Given the description of an element on the screen output the (x, y) to click on. 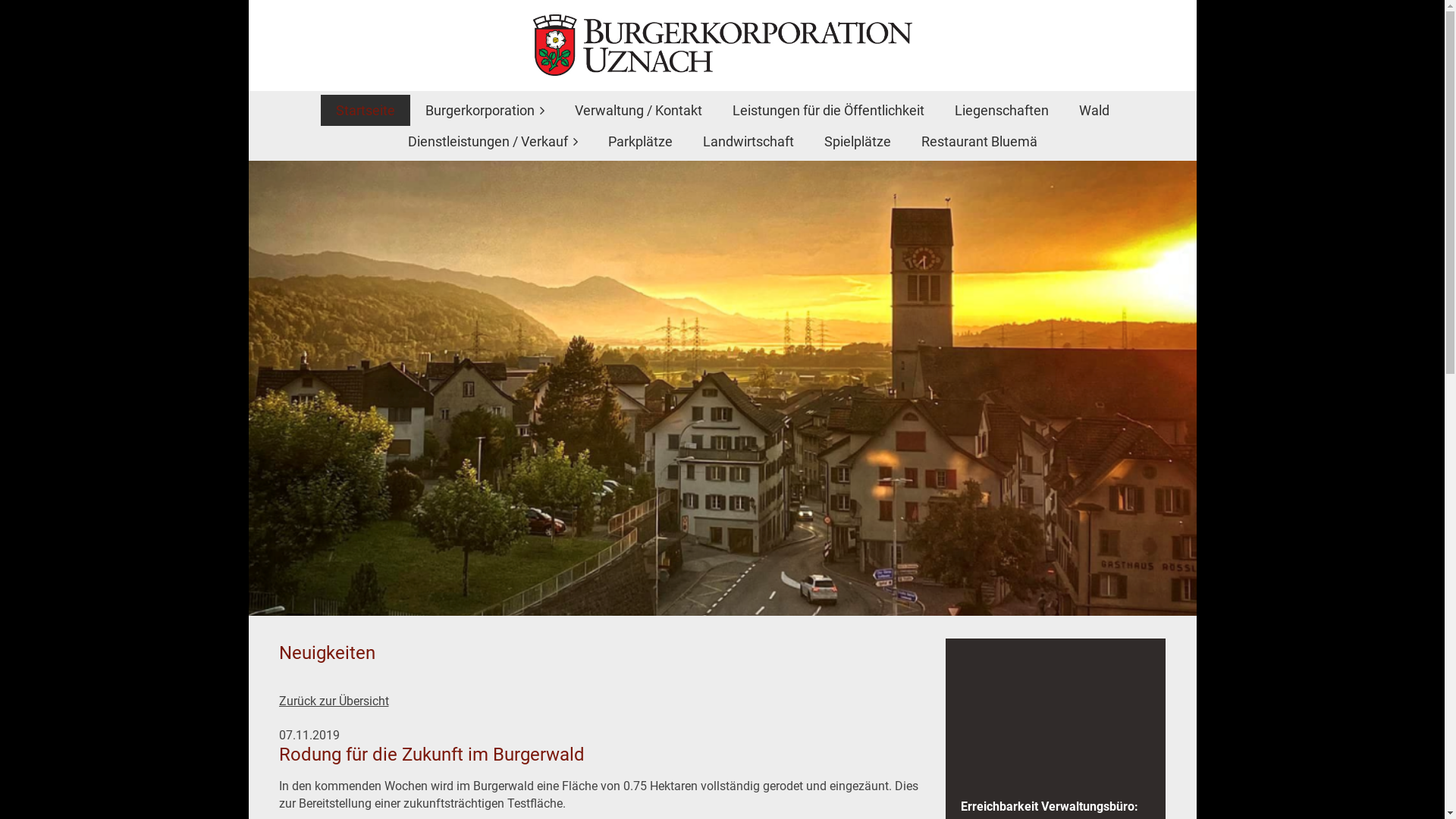
Landwirtschaft Element type: text (747, 140)
Verwaltung / Kontakt Element type: text (638, 109)
Dienstleistungen / Verkauf Element type: text (492, 140)
Burgerkorporation Element type: text (483, 109)
Startseite Element type: text (364, 109)
Liegenschaften Element type: text (1000, 109)
Wald Element type: text (1093, 109)
